Given the description of an element on the screen output the (x, y) to click on. 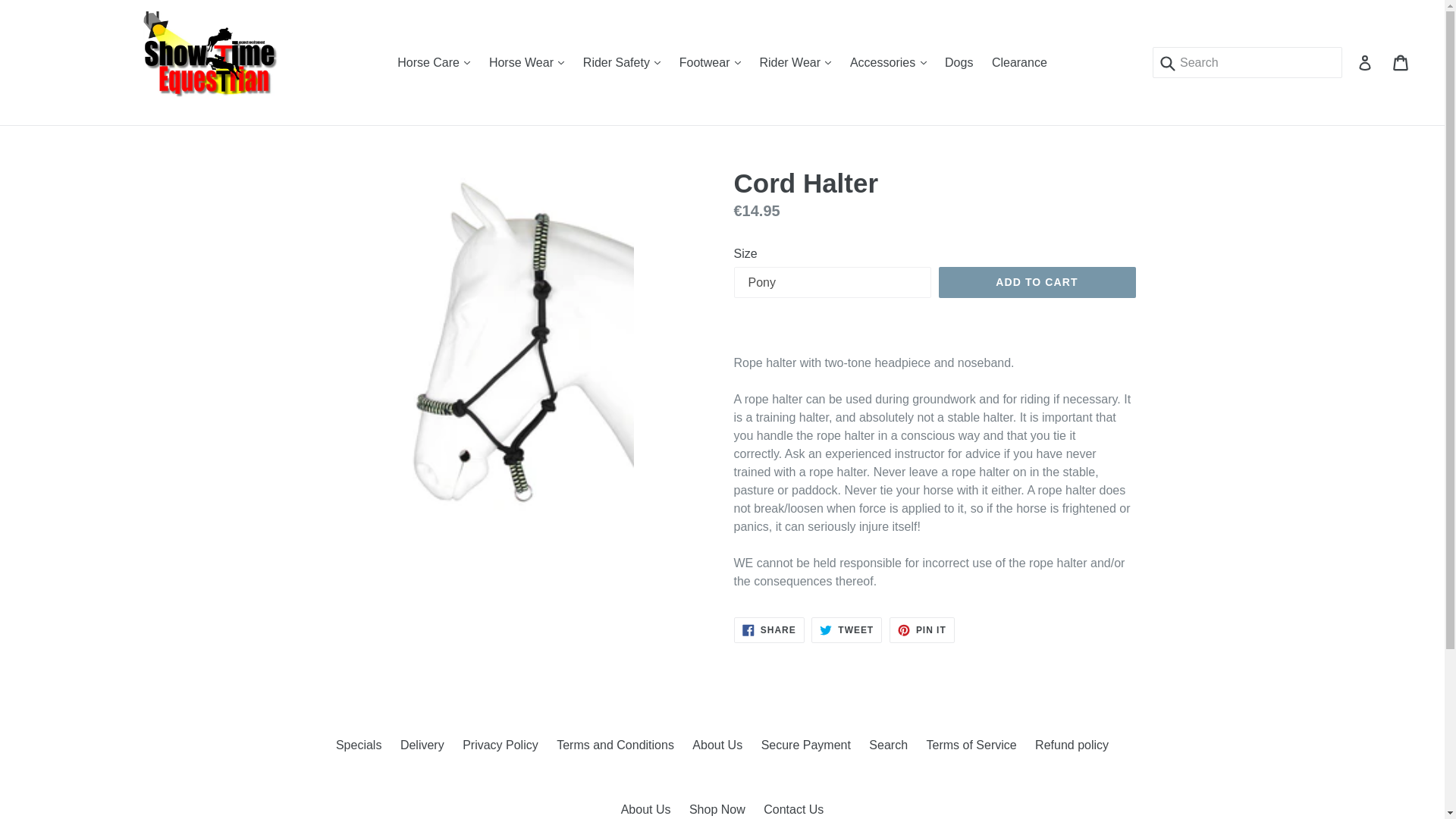
Share on Facebook (769, 629)
Tweet on Twitter (846, 629)
Pin on Pinterest (922, 629)
